Given the description of an element on the screen output the (x, y) to click on. 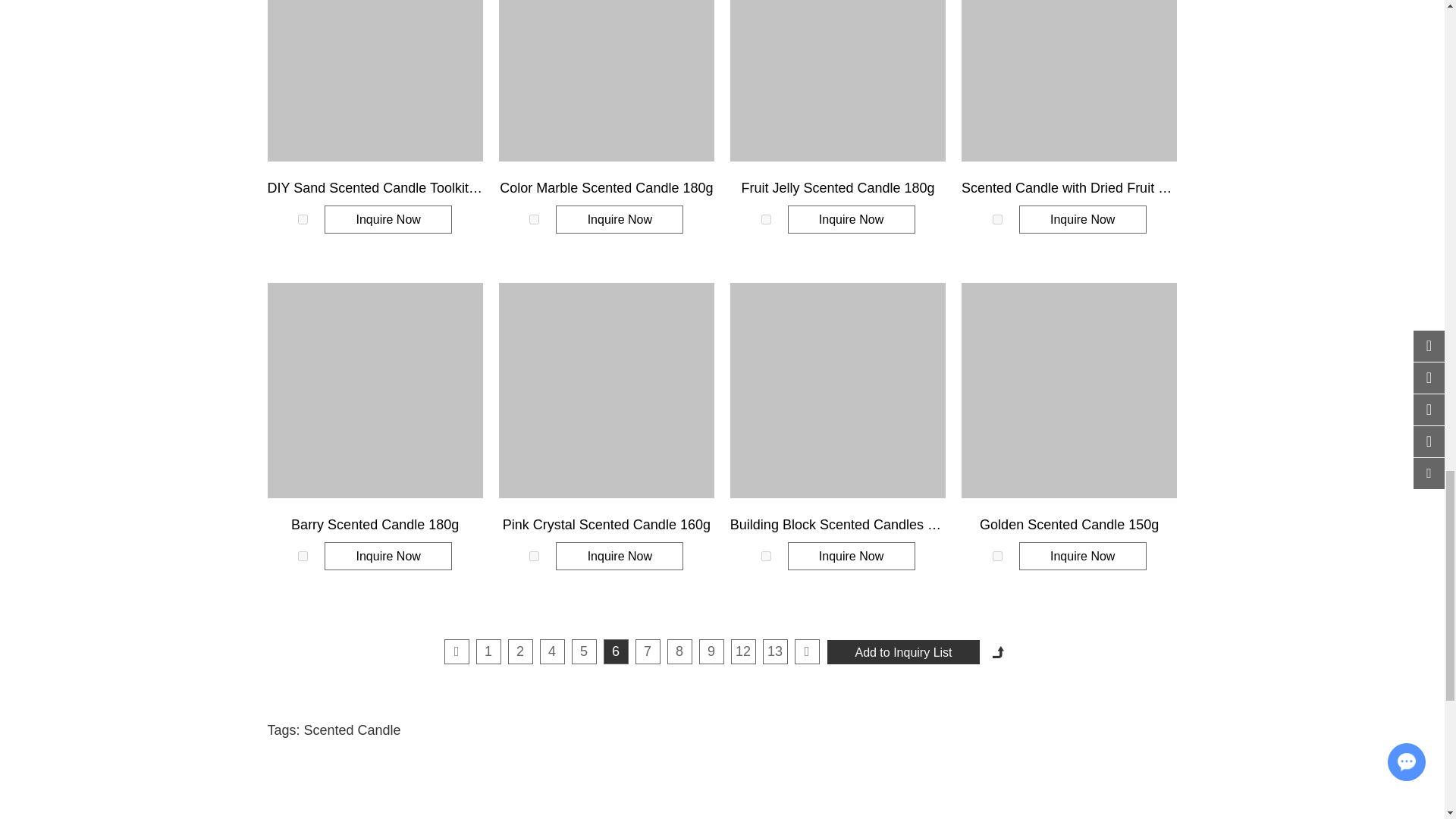
638 (766, 219)
631 (533, 556)
635 (997, 219)
634 (302, 556)
649 (302, 219)
644 (533, 219)
